Given the description of an element on the screen output the (x, y) to click on. 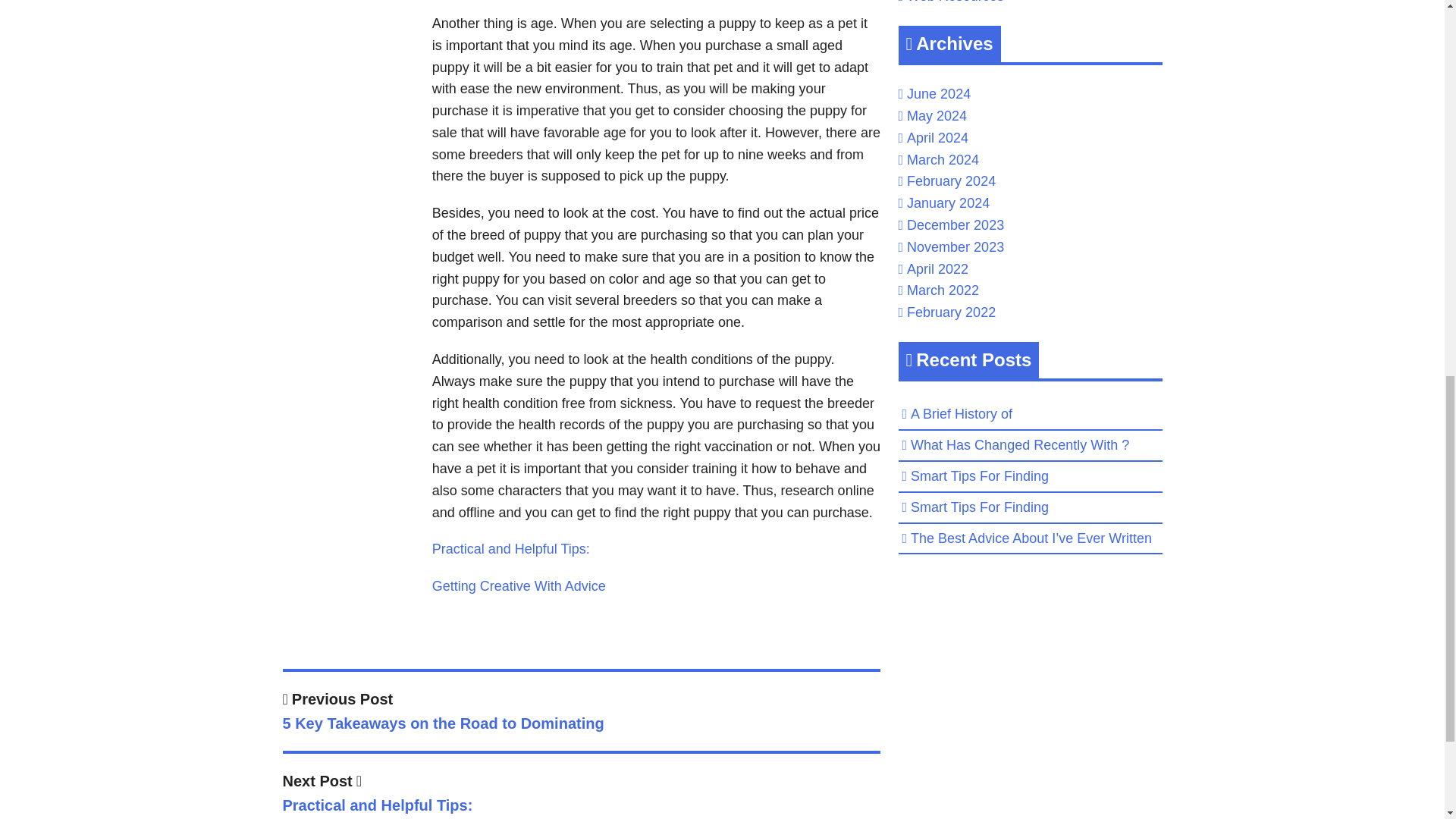
Web Resources (955, 2)
June 2024 (939, 93)
Getting Creative With Advice (581, 795)
Practical and Helpful Tips: (518, 585)
